Given the description of an element on the screen output the (x, y) to click on. 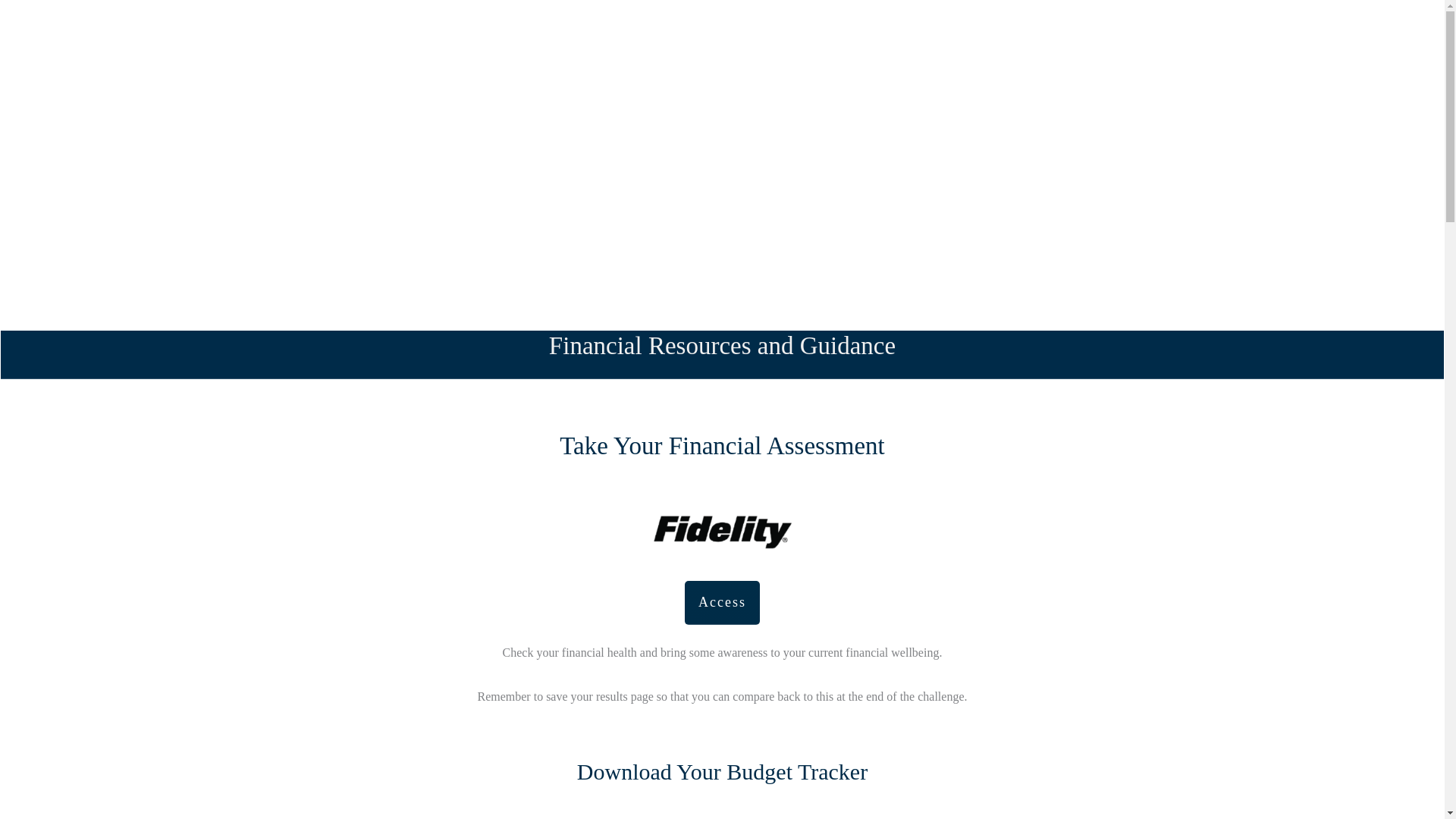
Screenshot 2023-02-24 at 10.20.24 (722, 816)
Screenshot 2023-02-24 at 10.20.24 (722, 528)
Access (722, 602)
